Given the description of an element on the screen output the (x, y) to click on. 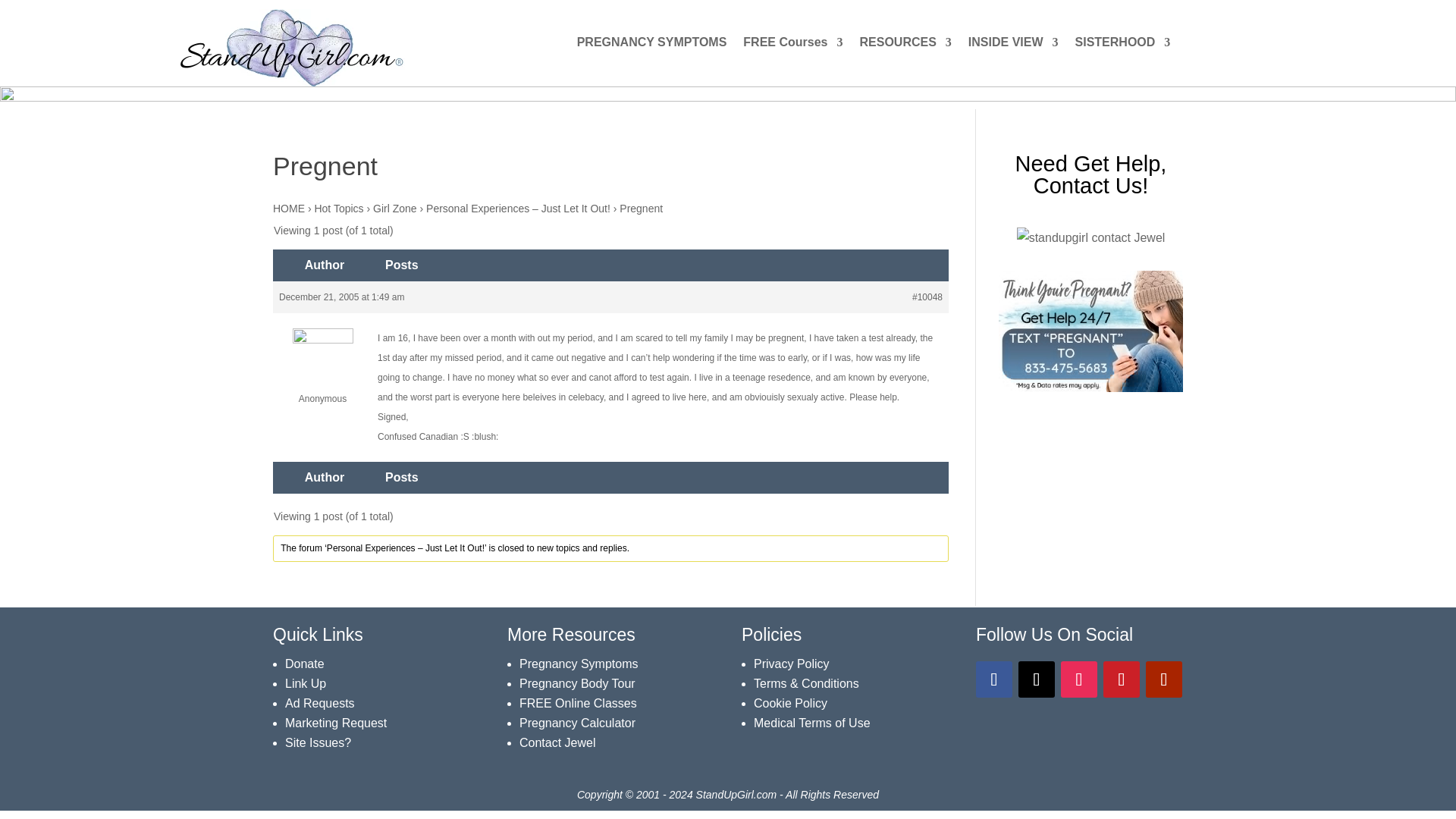
Ad Requests (320, 703)
Follow on Pinterest (1121, 678)
RESOURCES (904, 45)
INSIDE VIEW (1013, 45)
standupgirl.com (290, 47)
PREGNANCY SYMPTOMS (651, 45)
Site issue contact us (317, 742)
Follow on Facebook (993, 678)
donate to Standupgirl.com foundation (304, 663)
SISTERHOOD (1122, 45)
